Given the description of an element on the screen output the (x, y) to click on. 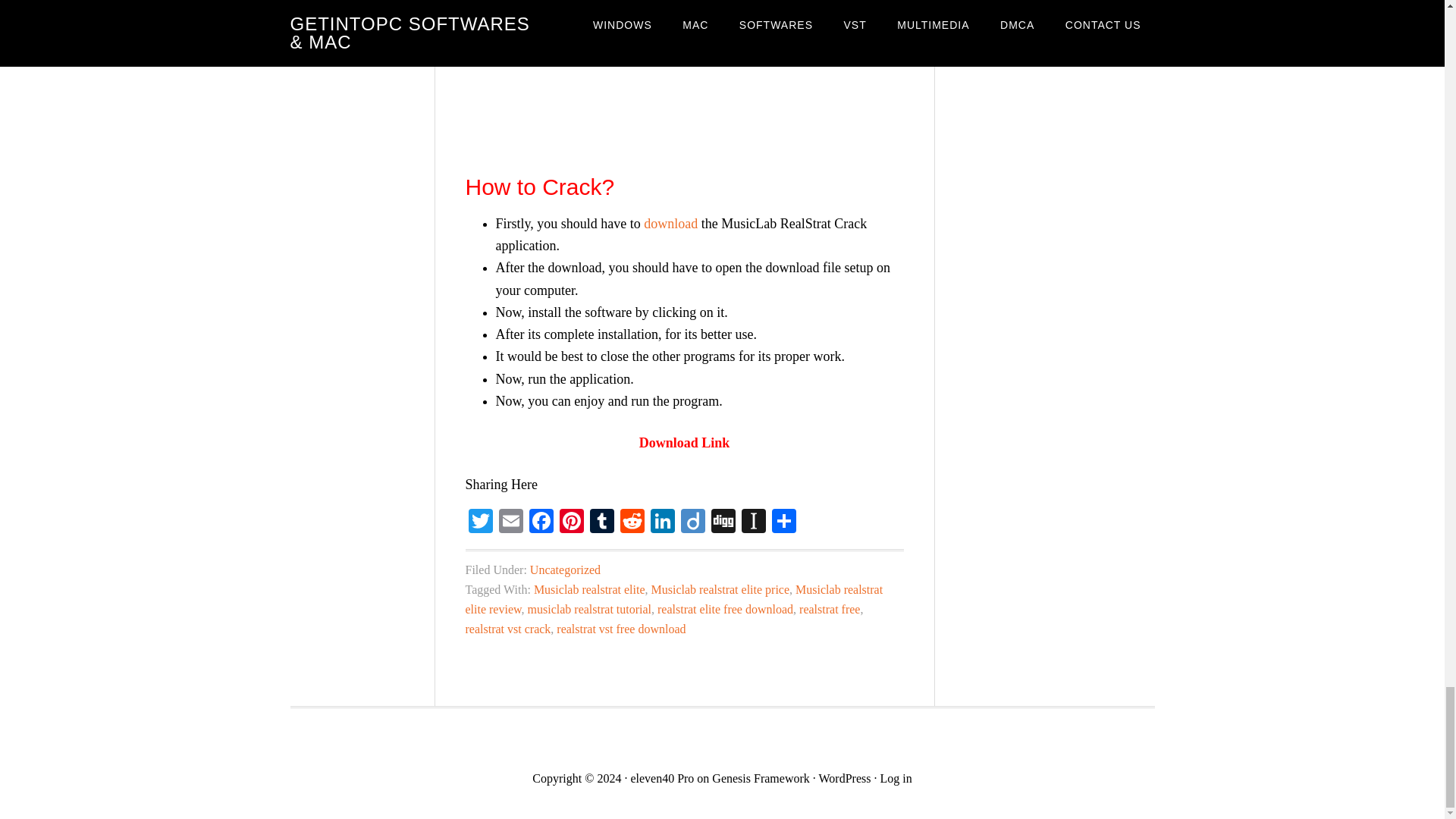
Musiclab realstrat elite price (719, 589)
LinkedIn (662, 522)
realstrat vst free download (620, 628)
Digg (722, 522)
Instapaper (753, 522)
Reddit (632, 522)
Uncategorized (564, 569)
Email (510, 522)
Digg (722, 522)
Download Link (684, 442)
